Given the description of an element on the screen output the (x, y) to click on. 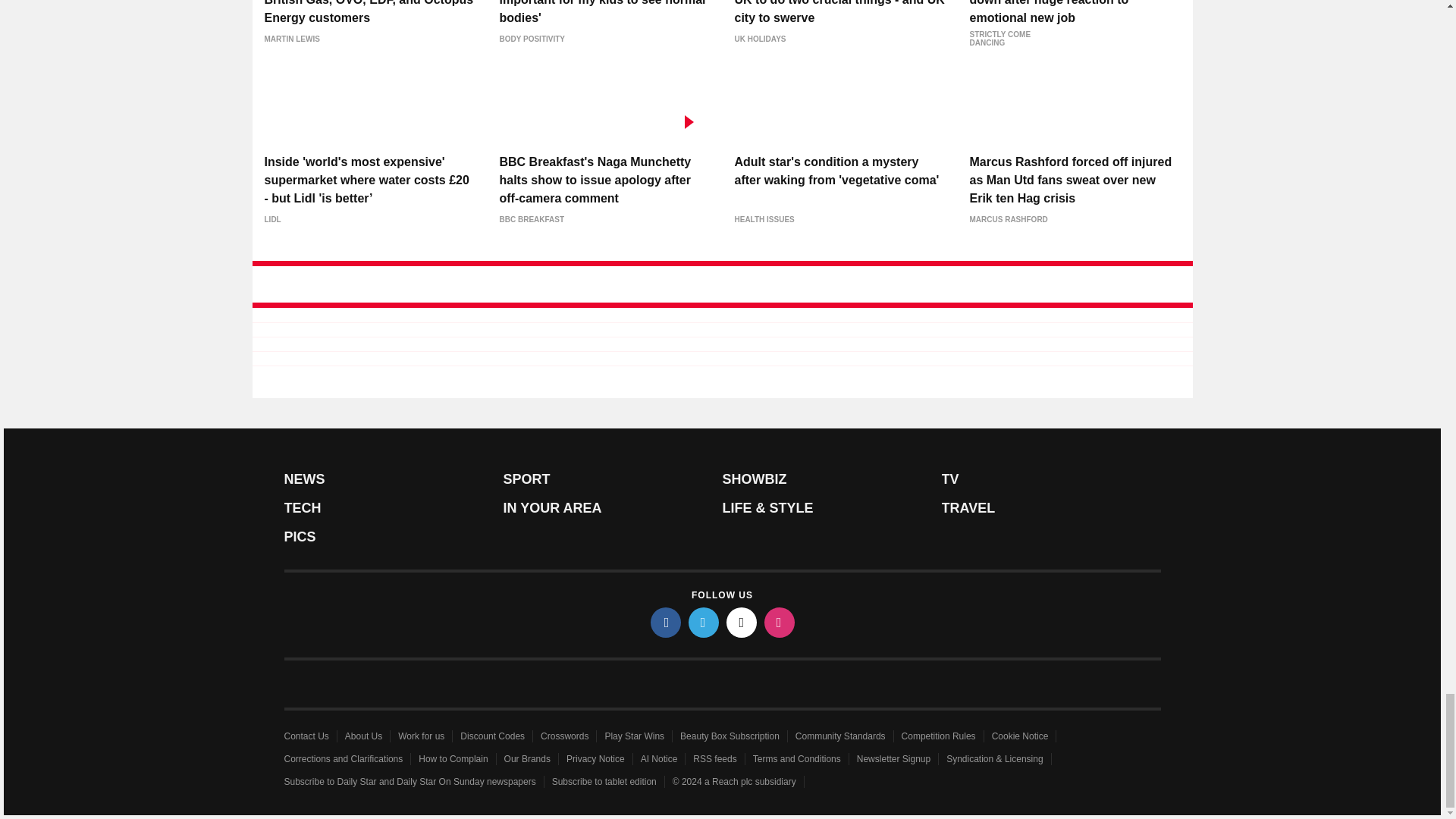
tiktok (741, 622)
facebook (665, 622)
twitter (703, 622)
instagram (779, 622)
